Given the description of an element on the screen output the (x, y) to click on. 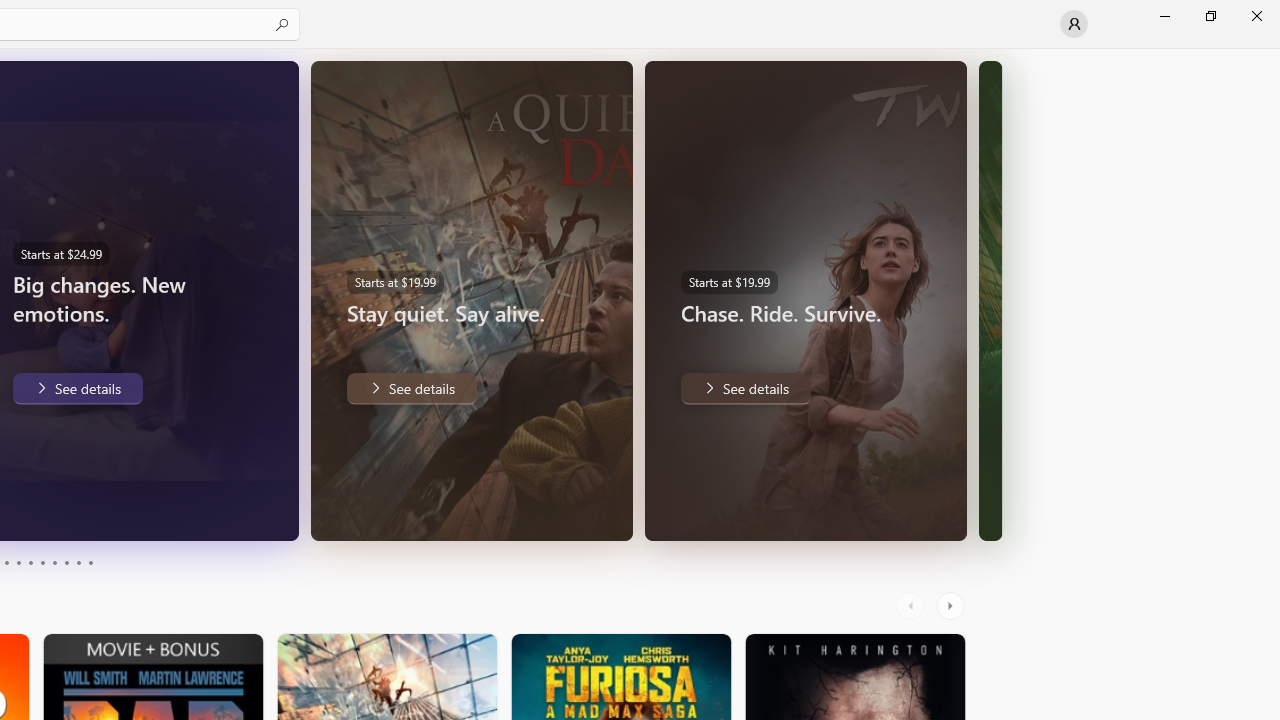
Pause Trailer (229, 512)
Minimize Microsoft Store (1164, 15)
AutomationID: LeftScrollButton (913, 606)
Page 5 (29, 562)
